Given the description of an element on the screen output the (x, y) to click on. 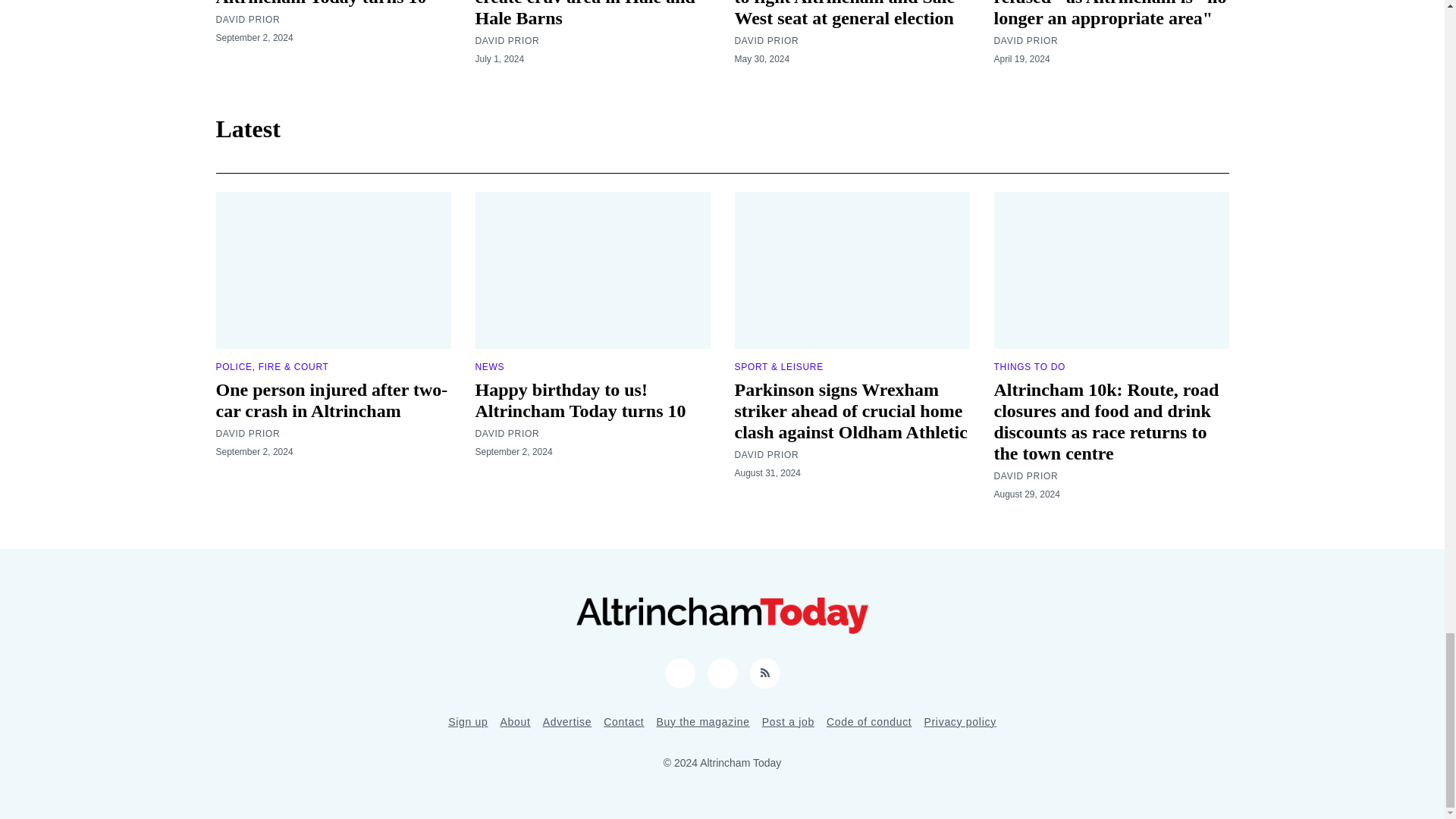
DAVID PRIOR (247, 19)
Happy birthday to us! Altrincham Today turns 10 (320, 3)
DAVID PRIOR (506, 40)
DAVID PRIOR (765, 40)
